Given the description of an element on the screen output the (x, y) to click on. 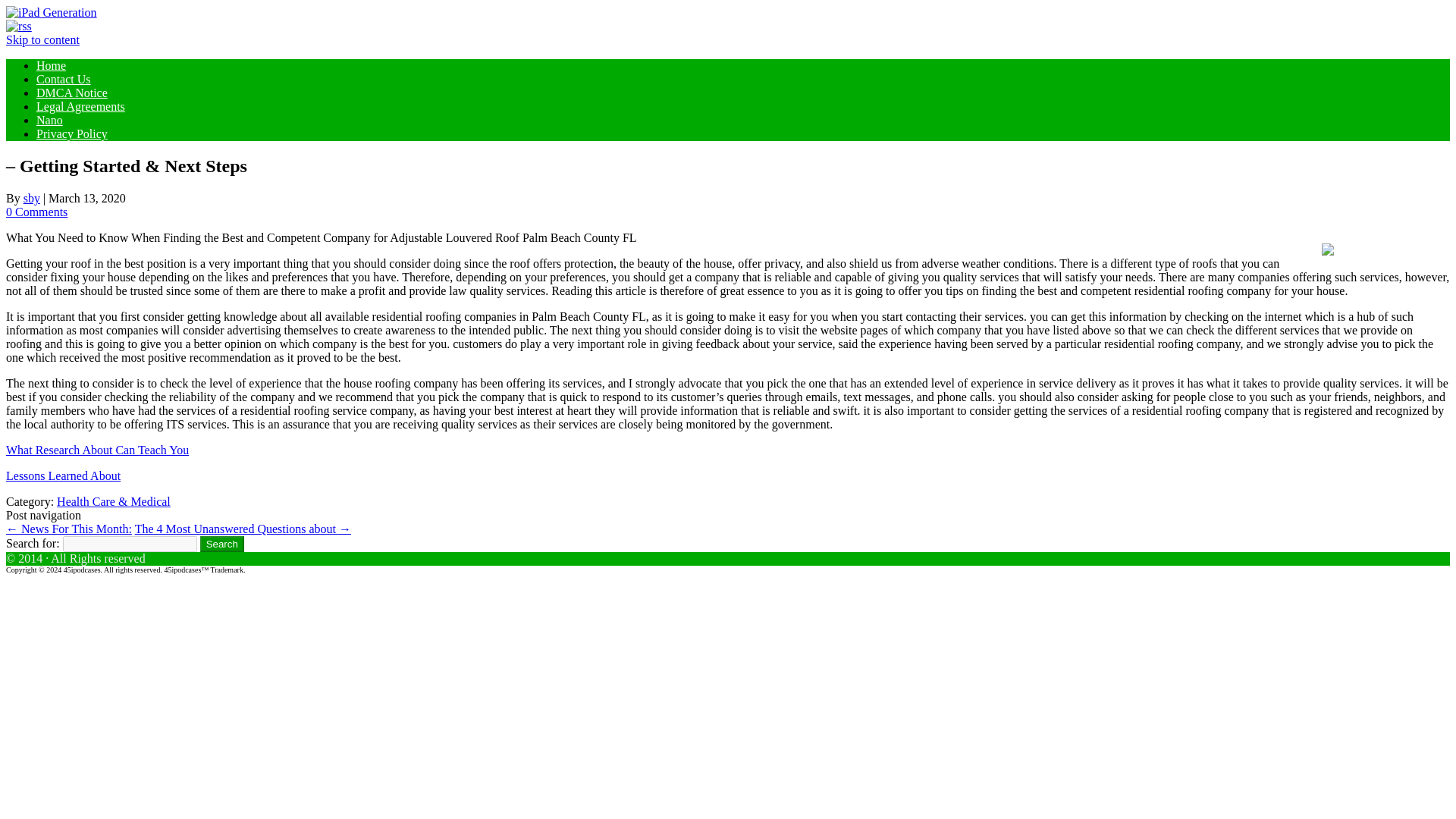
Legal Agreements (80, 106)
iPad Generation (51, 11)
Skip to content (42, 39)
Lessons Learned About (62, 475)
0 Comments (35, 211)
Contact Us (63, 78)
sby (31, 197)
Nano (49, 119)
Skip to content (42, 39)
Search (222, 544)
What Research About Can Teach You (97, 449)
Search (222, 544)
Privacy Policy (71, 133)
DMCA Notice (71, 92)
Home (50, 65)
